Given the description of an element on the screen output the (x, y) to click on. 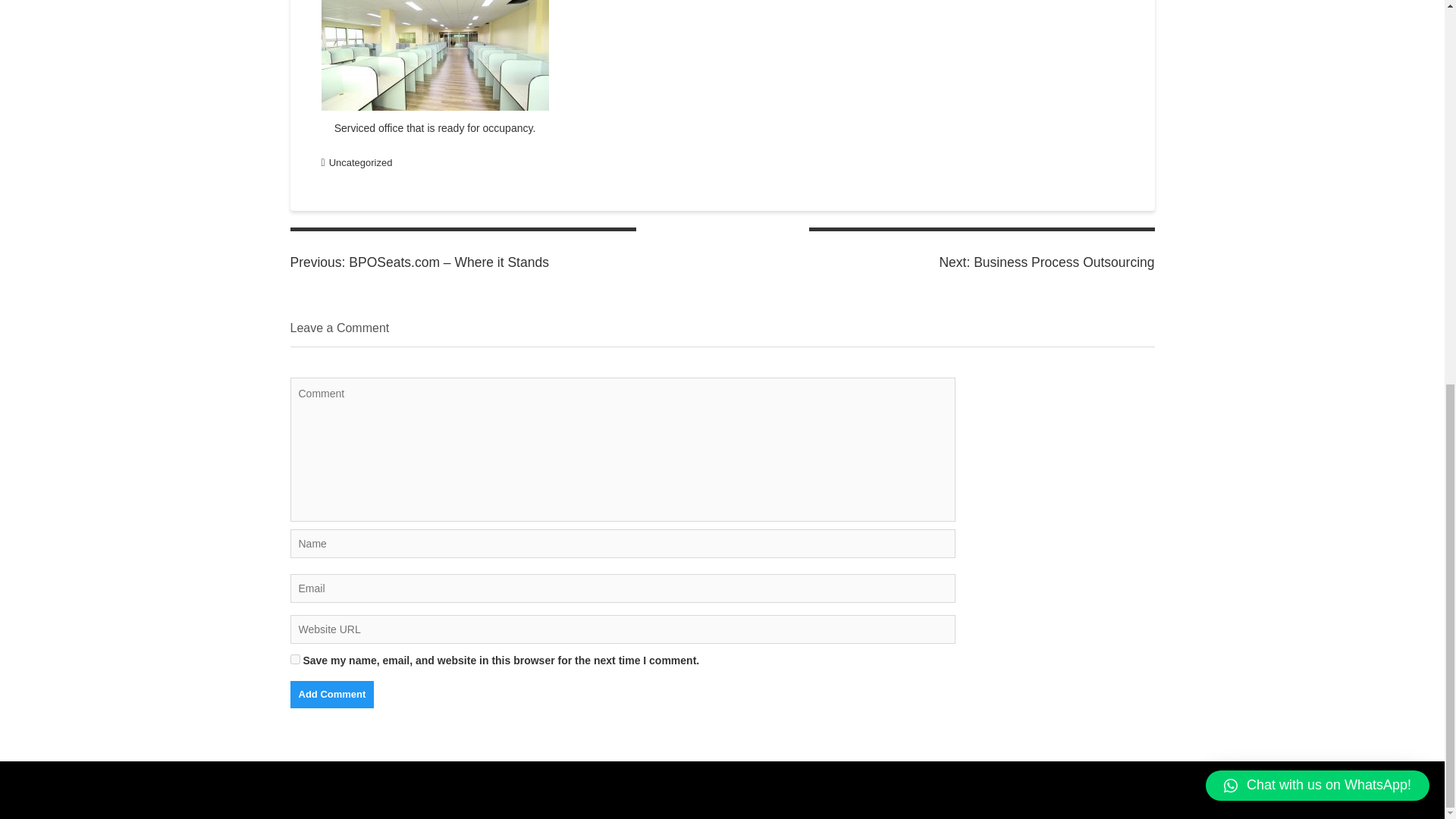
Chat with us on WhatsApp! (1317, 64)
Uncategorized (361, 162)
Add Comment (331, 694)
Add Comment (331, 694)
yes (294, 659)
